Given the description of an element on the screen output the (x, y) to click on. 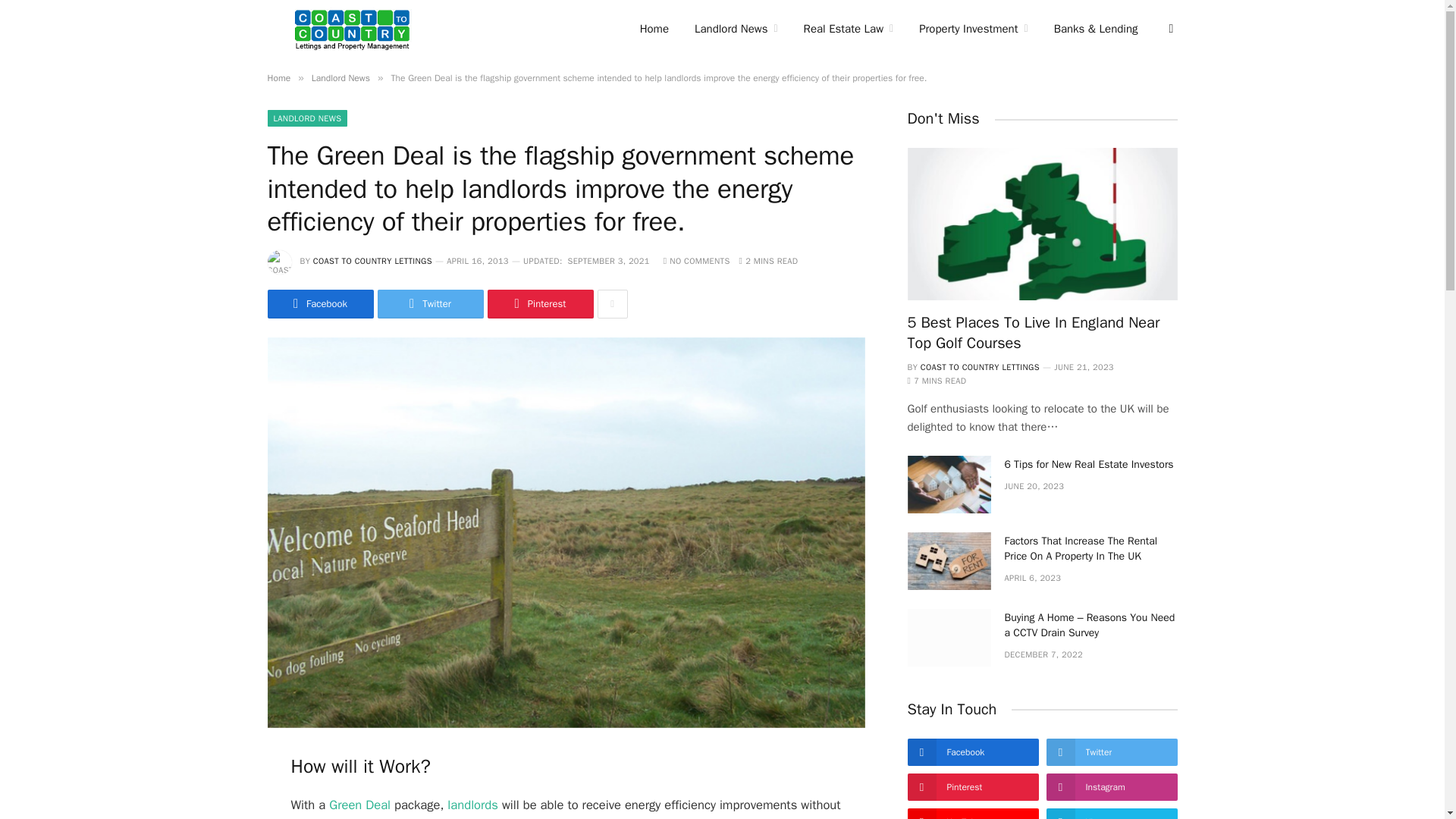
Real Estate Law (848, 28)
Coast to Country Lettings and Property Management (352, 28)
Home (654, 28)
Landlord News (735, 28)
